Given the description of an element on the screen output the (x, y) to click on. 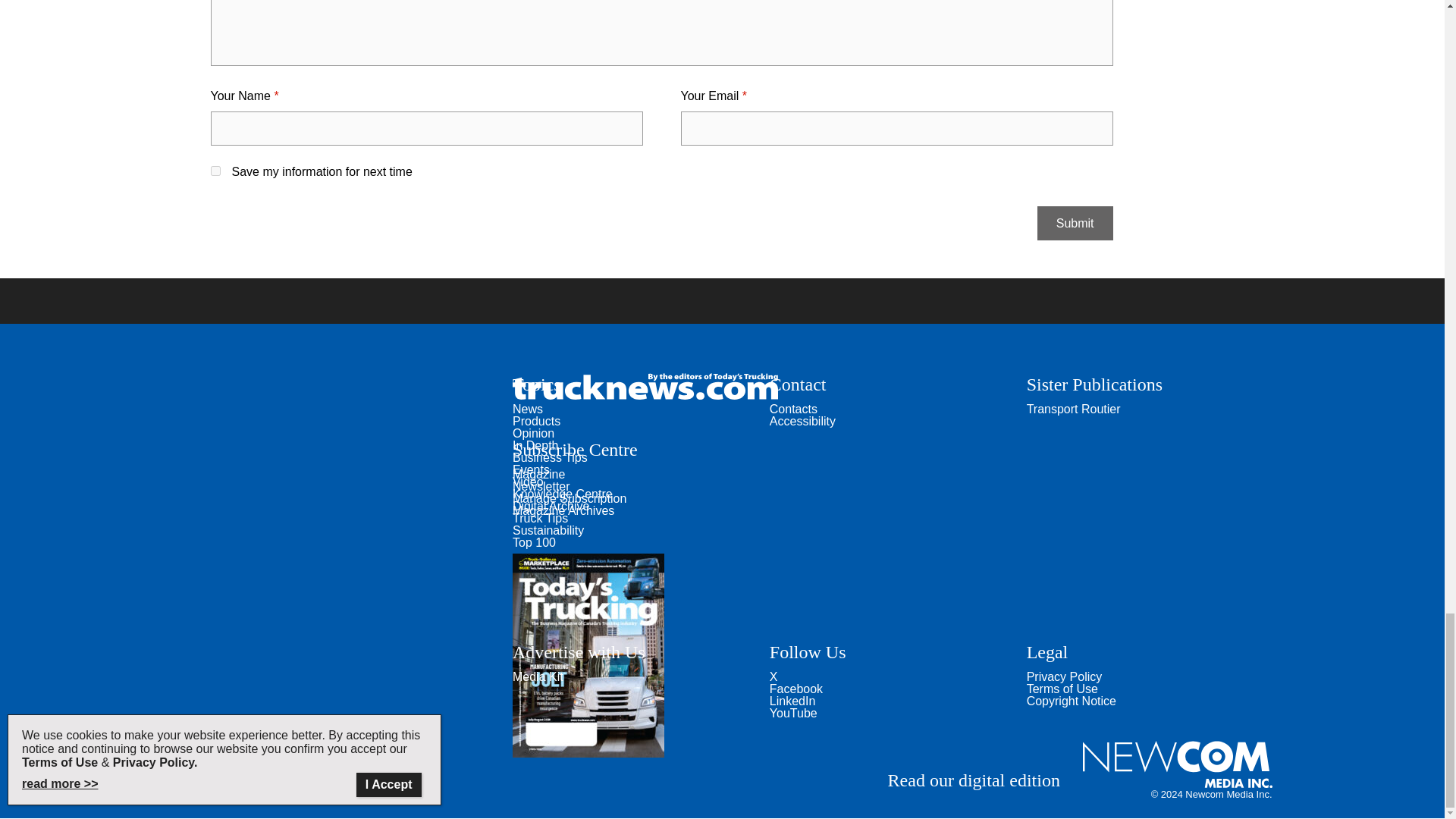
Submit (1074, 223)
yes (216, 171)
